Given the description of an element on the screen output the (x, y) to click on. 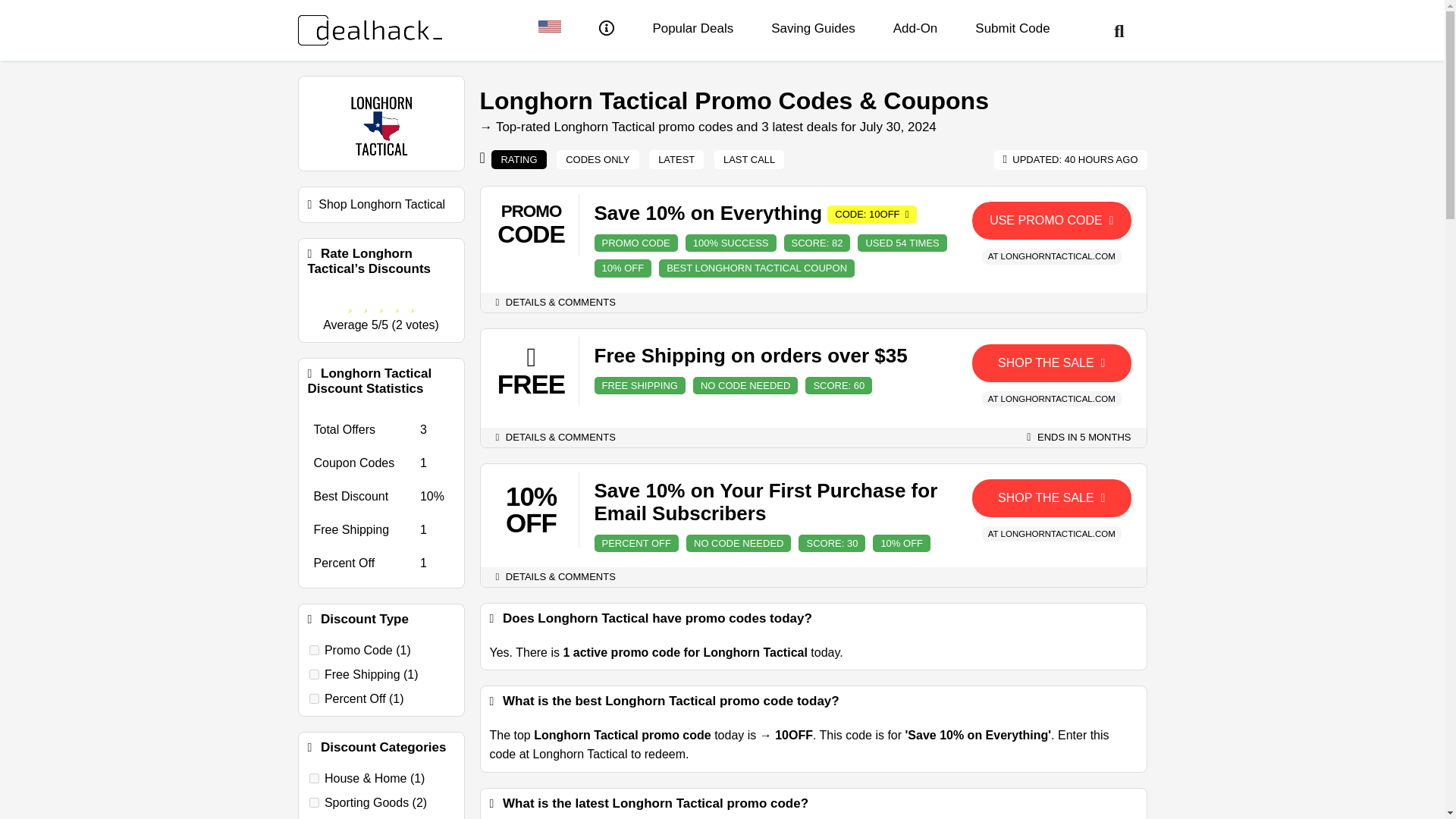
Click to open site (1051, 497)
Click to open site (1051, 362)
freeshipping (313, 674)
percent (313, 698)
coupon-code (313, 650)
house-home (313, 777)
sports (313, 802)
Dealhack USA (549, 29)
Popular Deals (692, 29)
Affiliate Disclaimer (606, 30)
